Given the description of an element on the screen output the (x, y) to click on. 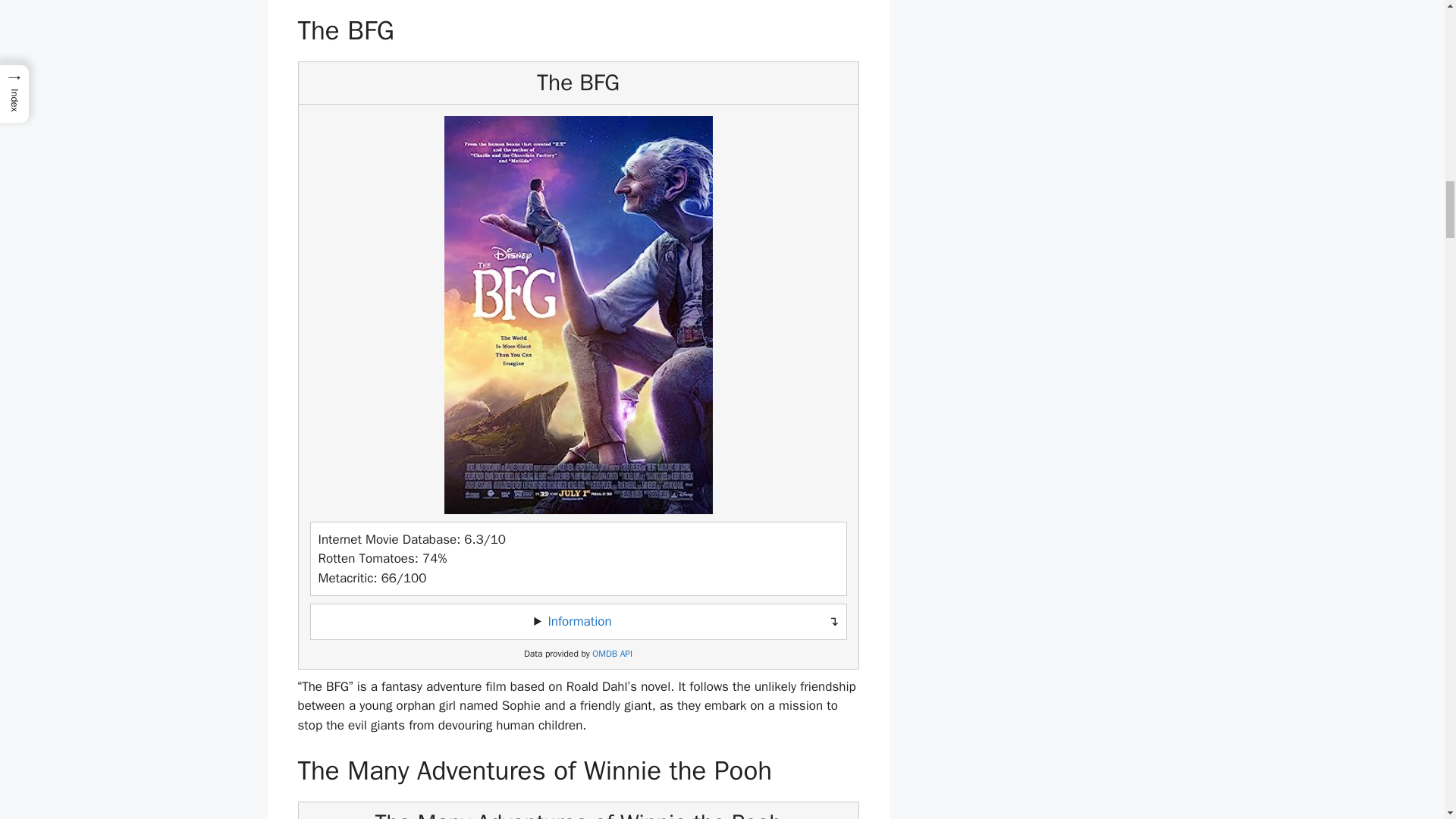
Information (579, 621)
OMDB API (611, 654)
Open Movie Database API (611, 654)
Toggle information (578, 621)
